Given the description of an element on the screen output the (x, y) to click on. 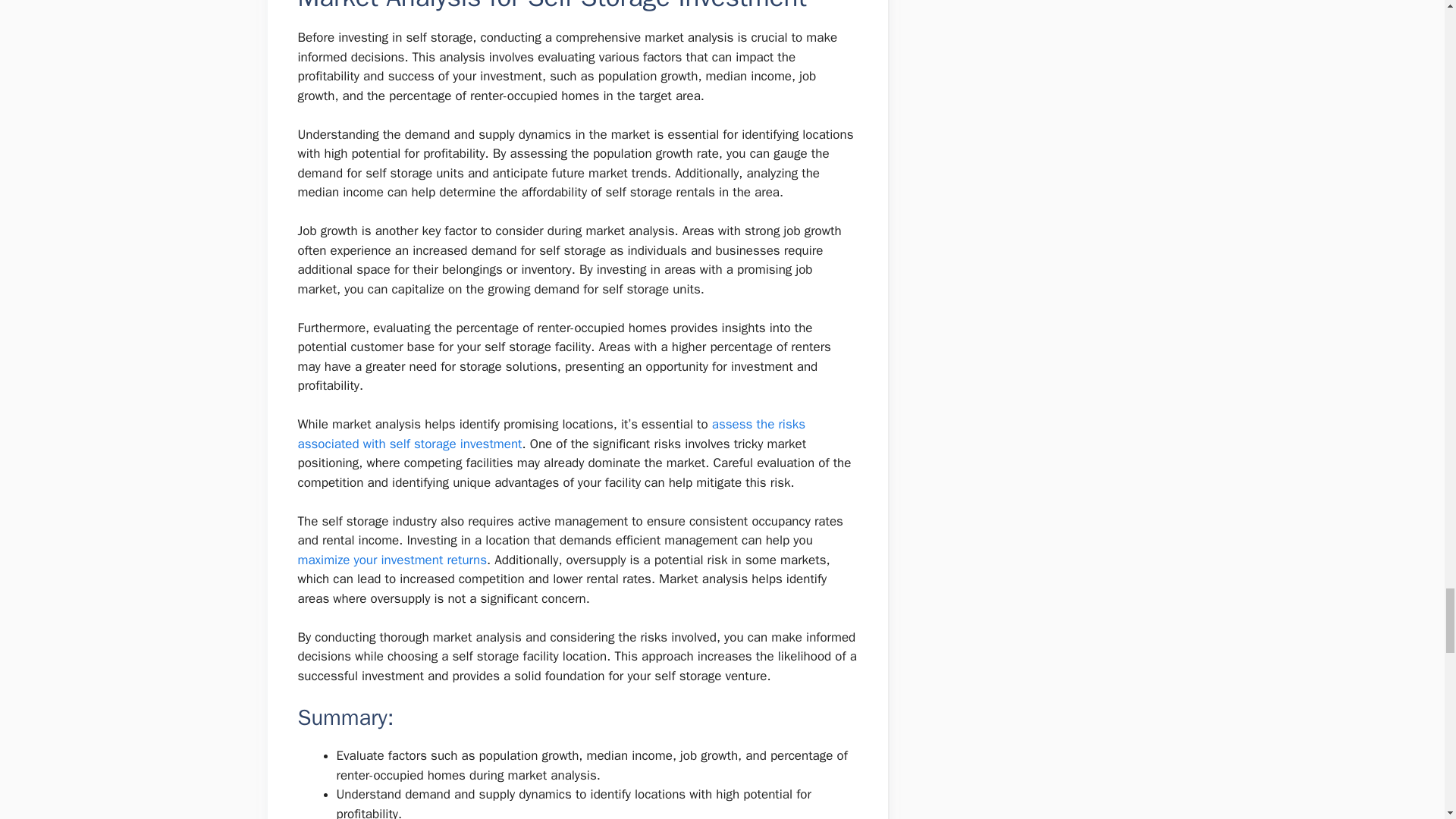
assess the risks associated with self storage investment (551, 434)
maximize your investment returns (391, 560)
